Given the description of an element on the screen output the (x, y) to click on. 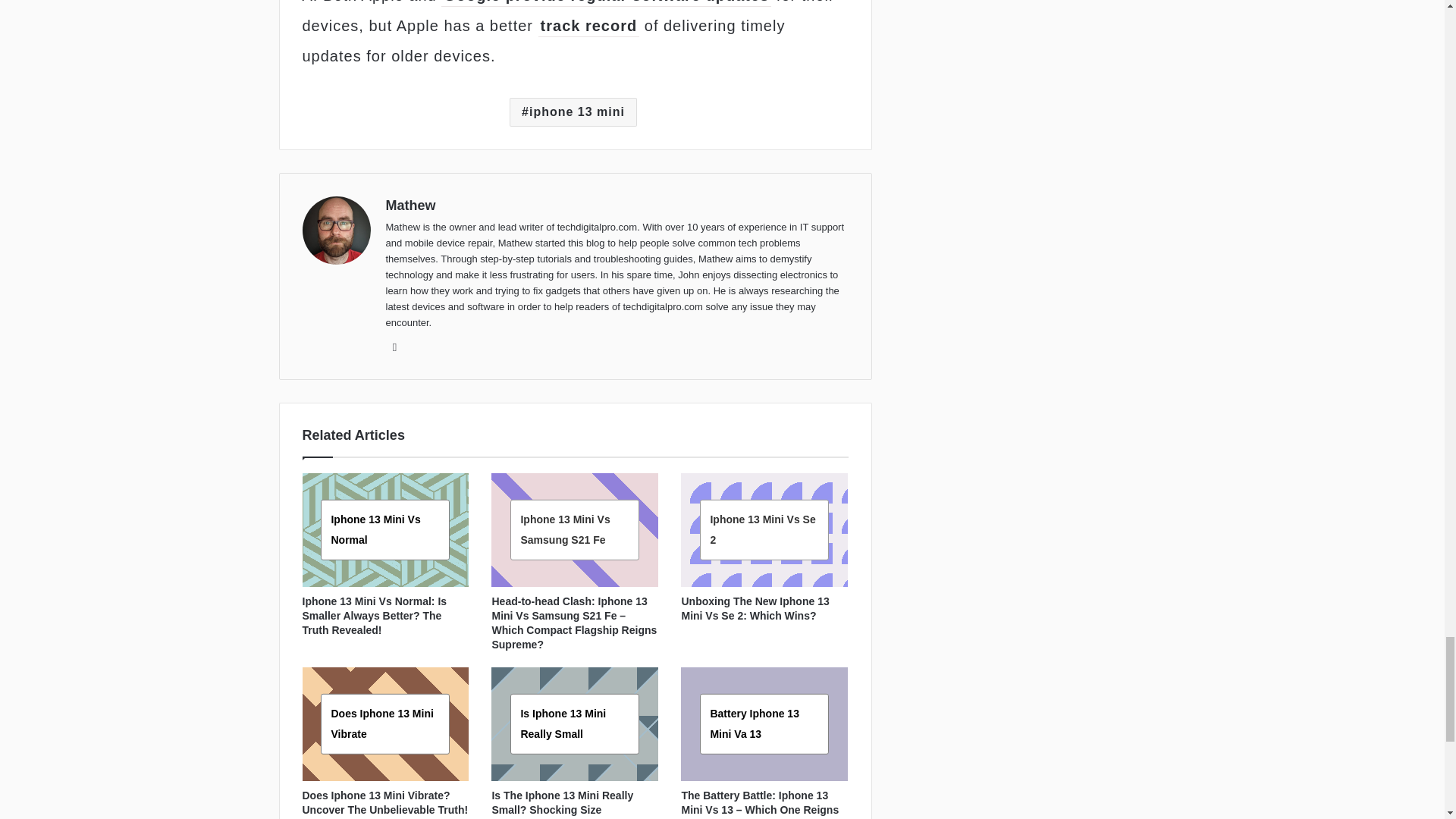
Mathew (410, 205)
Website (394, 347)
Iphone 13 Mini Vs Samsung S21 Fe (564, 529)
iphone 13 mini (573, 111)
Iphone 13 Mini Vs Normal (375, 529)
